Given the description of an element on the screen output the (x, y) to click on. 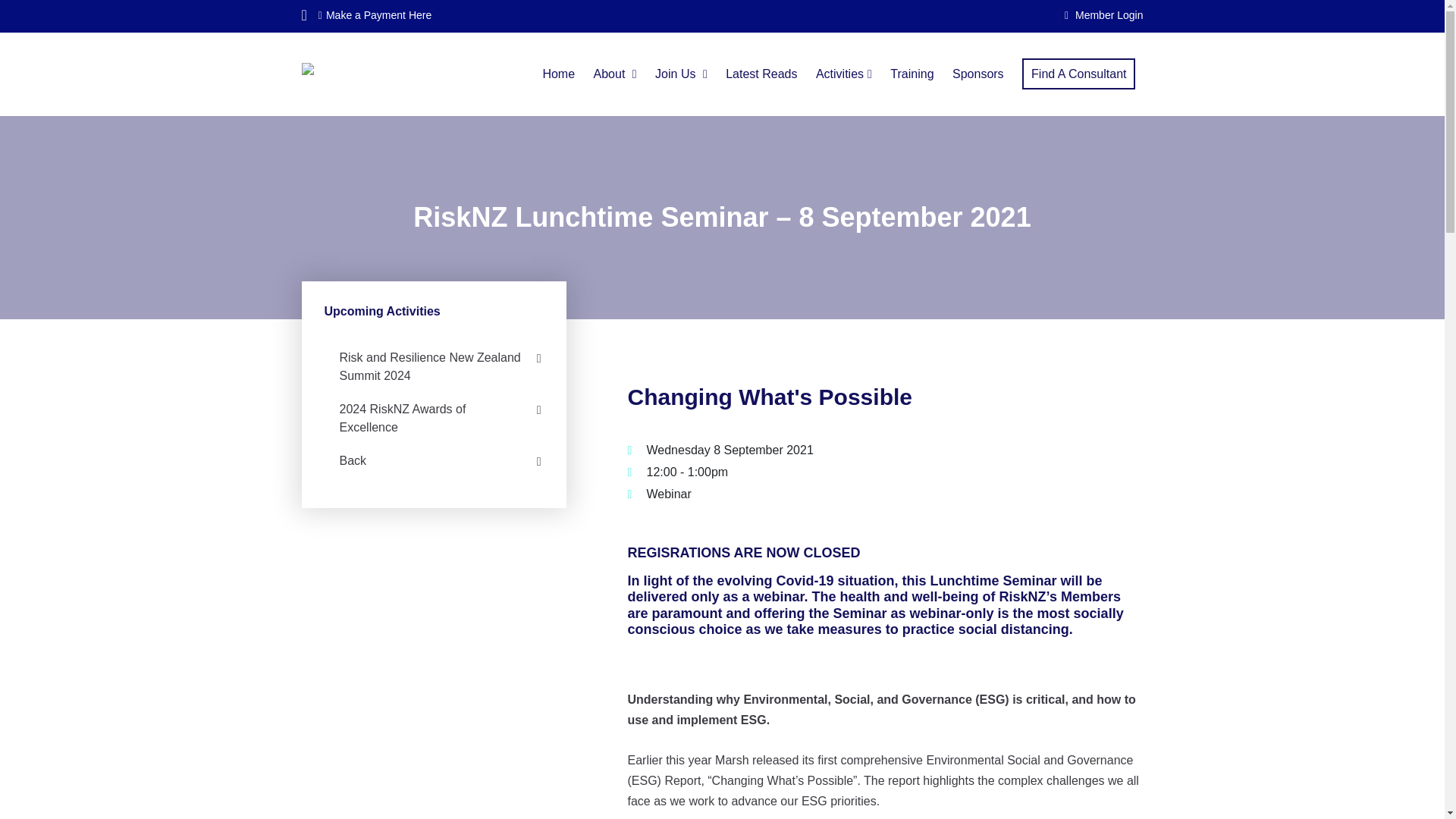
About (615, 73)
Home (558, 73)
Join Us (681, 73)
Member Login (1103, 15)
Make a Payment Here (374, 15)
